Given the description of an element on the screen output the (x, y) to click on. 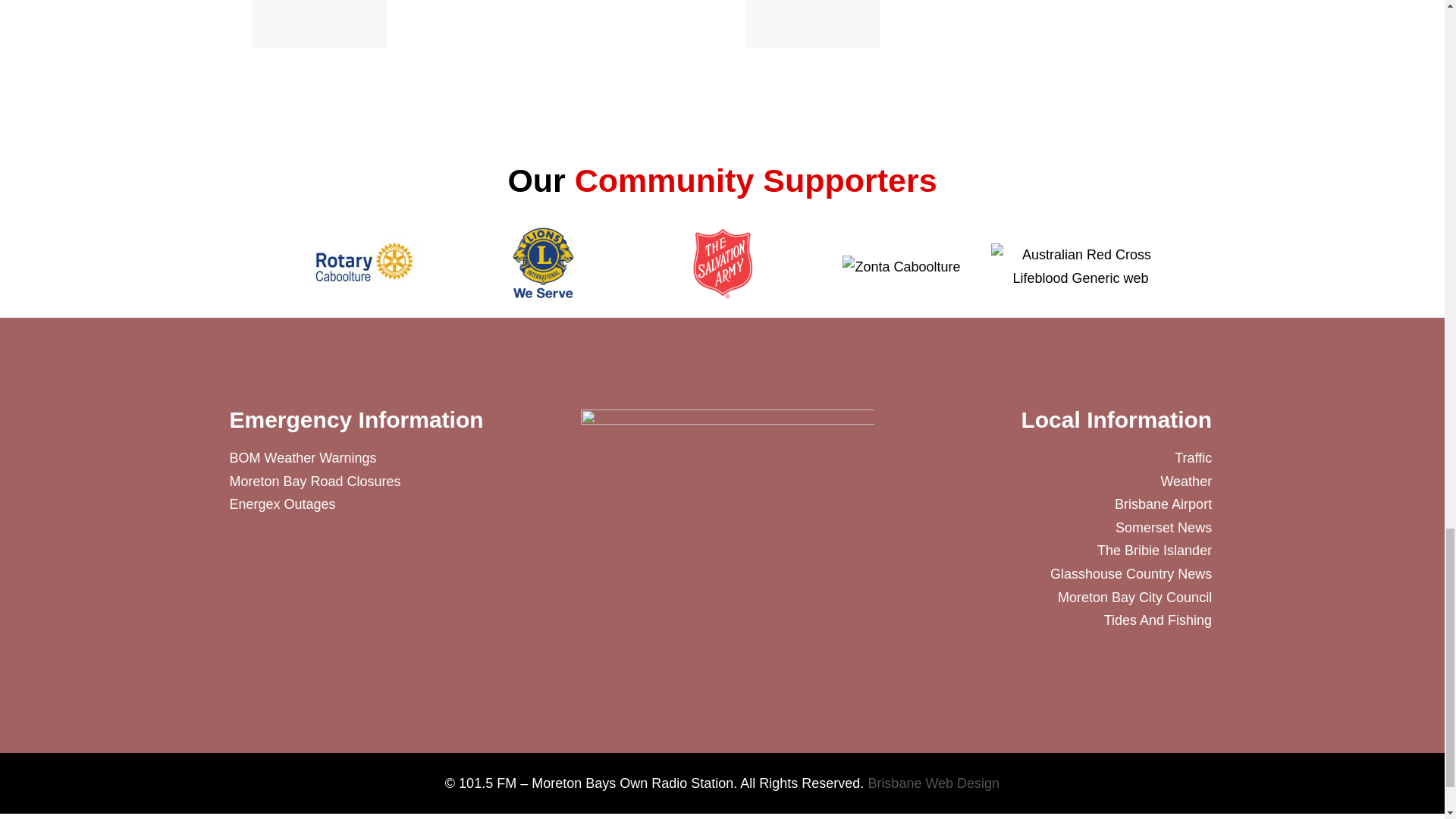
Brisbane Airport (1029, 504)
Traffic (1029, 458)
Glasshouse Country News (1029, 574)
Moreton Bay Road Closures (392, 481)
Somerset News (1029, 527)
BOM Weather Warnings (392, 458)
Energex Outages (392, 504)
Weather (1029, 481)
The Bribie Islander (1029, 550)
